Given the description of an element on the screen output the (x, y) to click on. 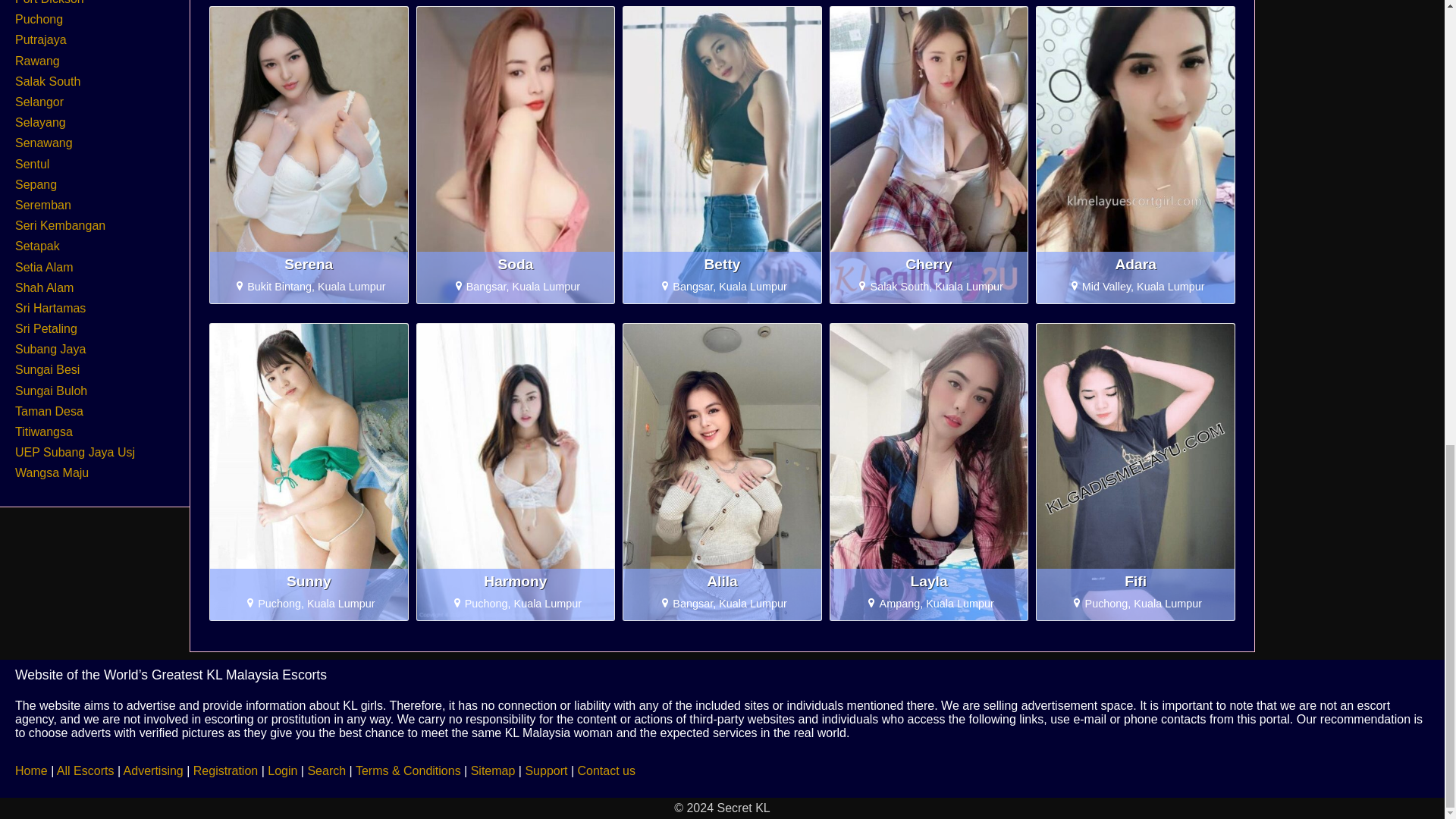
Soda (515, 264)
Adara (1135, 264)
Cherry (929, 264)
Serena (309, 264)
Betty (721, 264)
